Given the description of an element on the screen output the (x, y) to click on. 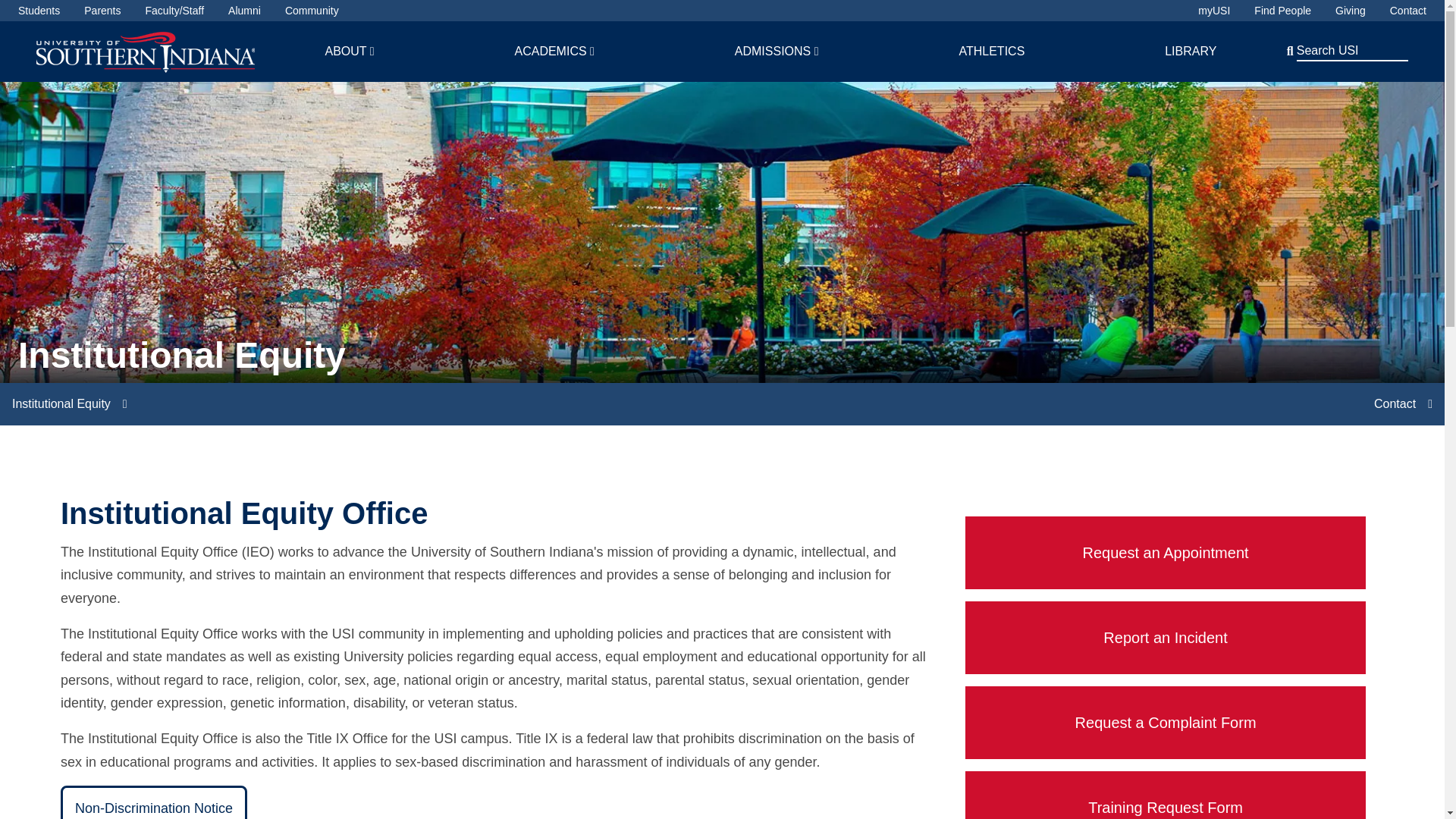
Alumni (244, 10)
Students (38, 10)
myUSI (1214, 10)
University of Southern Indiana (145, 50)
Contact (1408, 10)
Giving (1350, 10)
Non-Discrimination Notice (154, 802)
Community (312, 10)
Parents (102, 10)
Find People (1282, 10)
